Given the description of an element on the screen output the (x, y) to click on. 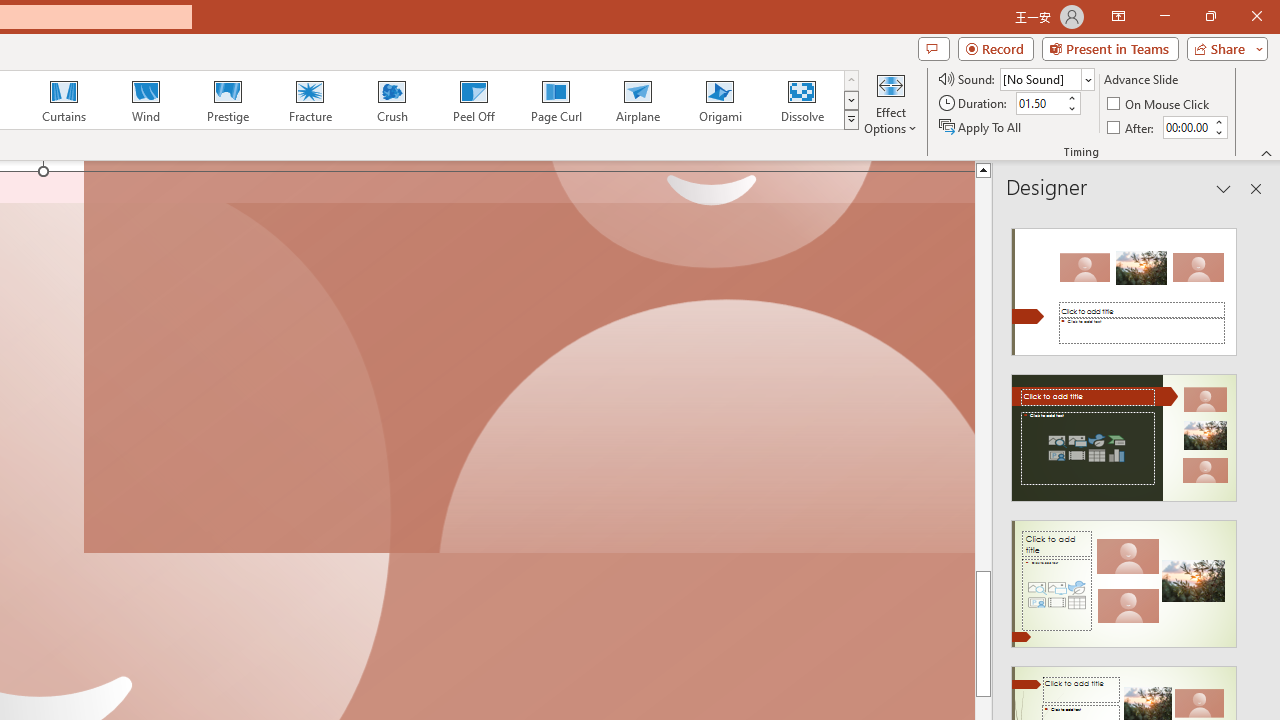
Camera 7, No camera detected. (529, 358)
Prestige (227, 100)
Design Idea (1124, 577)
Origami (719, 100)
Apply To All (981, 126)
Page up (983, 408)
Airplane (637, 100)
Transition Effects (850, 120)
Duration (1039, 103)
After (1186, 127)
